Given the description of an element on the screen output the (x, y) to click on. 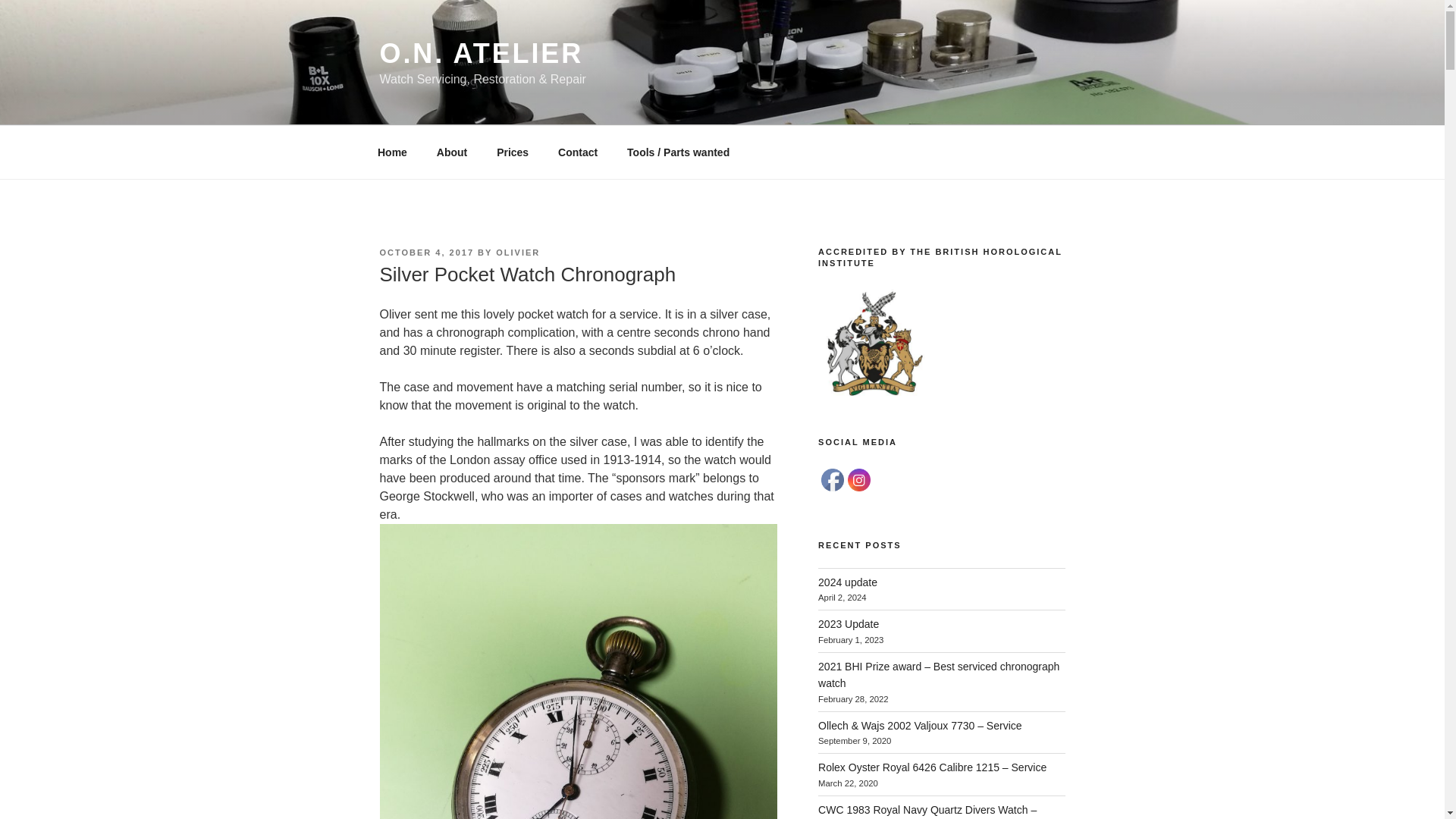
2023 Update (848, 623)
Prices (512, 151)
OLIVIER (518, 252)
Accredited by the British Horological Institute (874, 343)
O.N. ATELIER (480, 52)
2024 update (847, 582)
About (451, 151)
Instagram (858, 479)
Facebook (832, 479)
OCTOBER 4, 2017 (426, 252)
Home (392, 151)
Contact (577, 151)
